Given the description of an element on the screen output the (x, y) to click on. 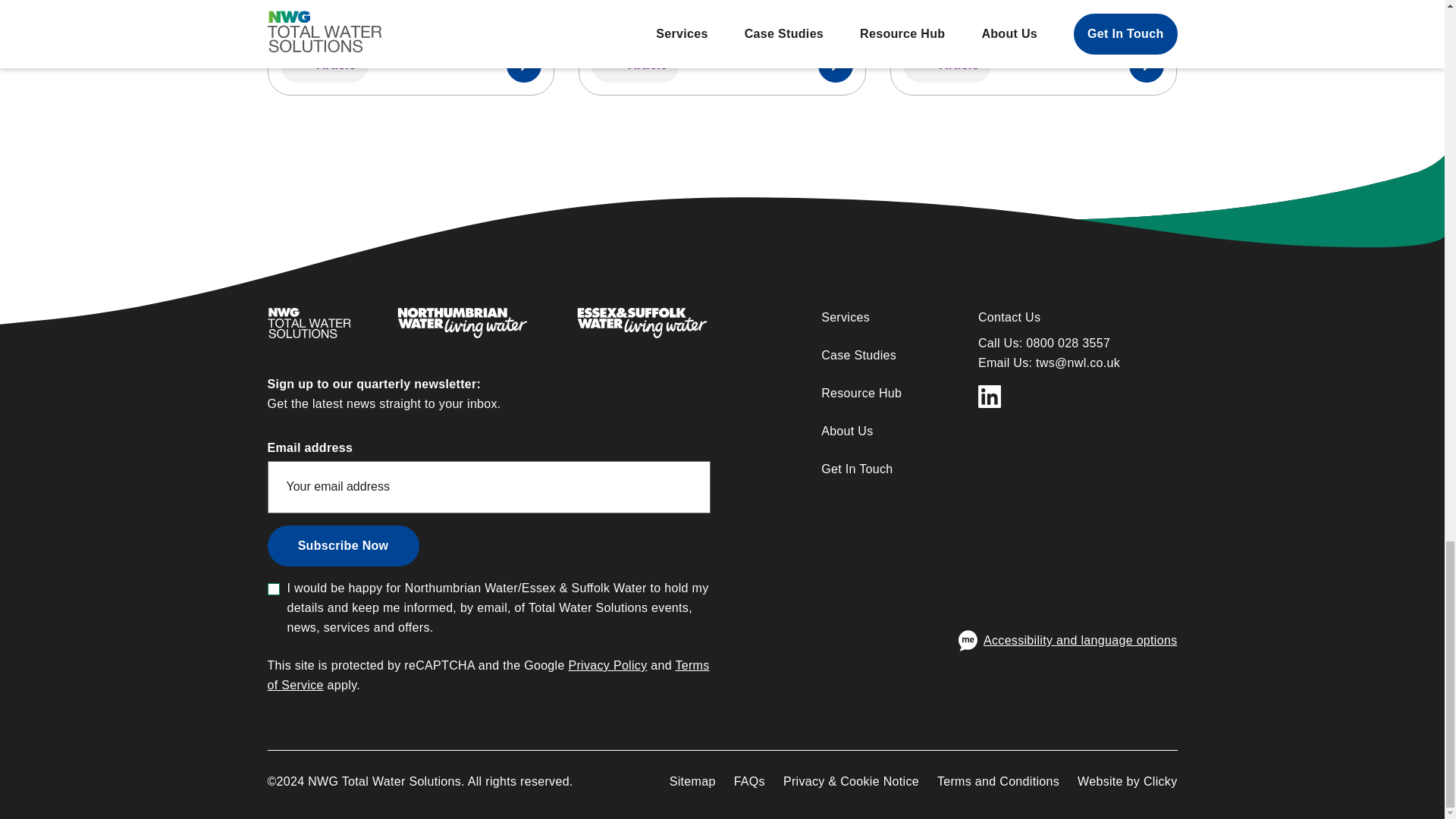
Subscribe Now (410, 47)
on (342, 545)
